Given the description of an element on the screen output the (x, y) to click on. 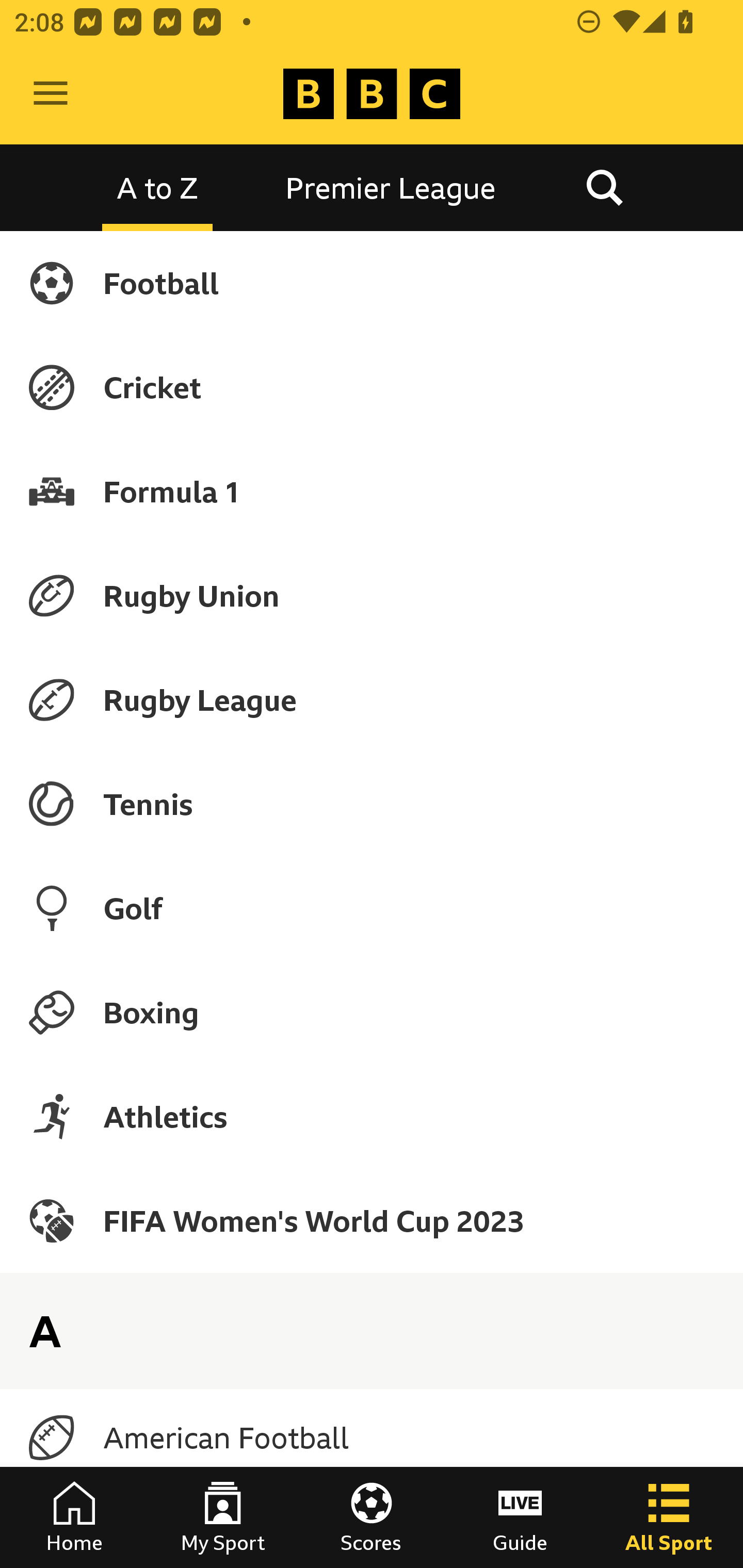
Open Menu (50, 93)
Premier League (390, 187)
Search (604, 187)
Football (371, 282)
Cricket (371, 387)
Formula 1 (371, 491)
Rugby Union (371, 595)
Rugby League (371, 699)
Tennis (371, 804)
Golf (371, 907)
Boxing (371, 1011)
Athletics (371, 1116)
FIFA Women's World Cup 2023 (371, 1220)
American Football (371, 1437)
Home (74, 1517)
My Sport (222, 1517)
Scores (371, 1517)
Guide (519, 1517)
